Given the description of an element on the screen output the (x, y) to click on. 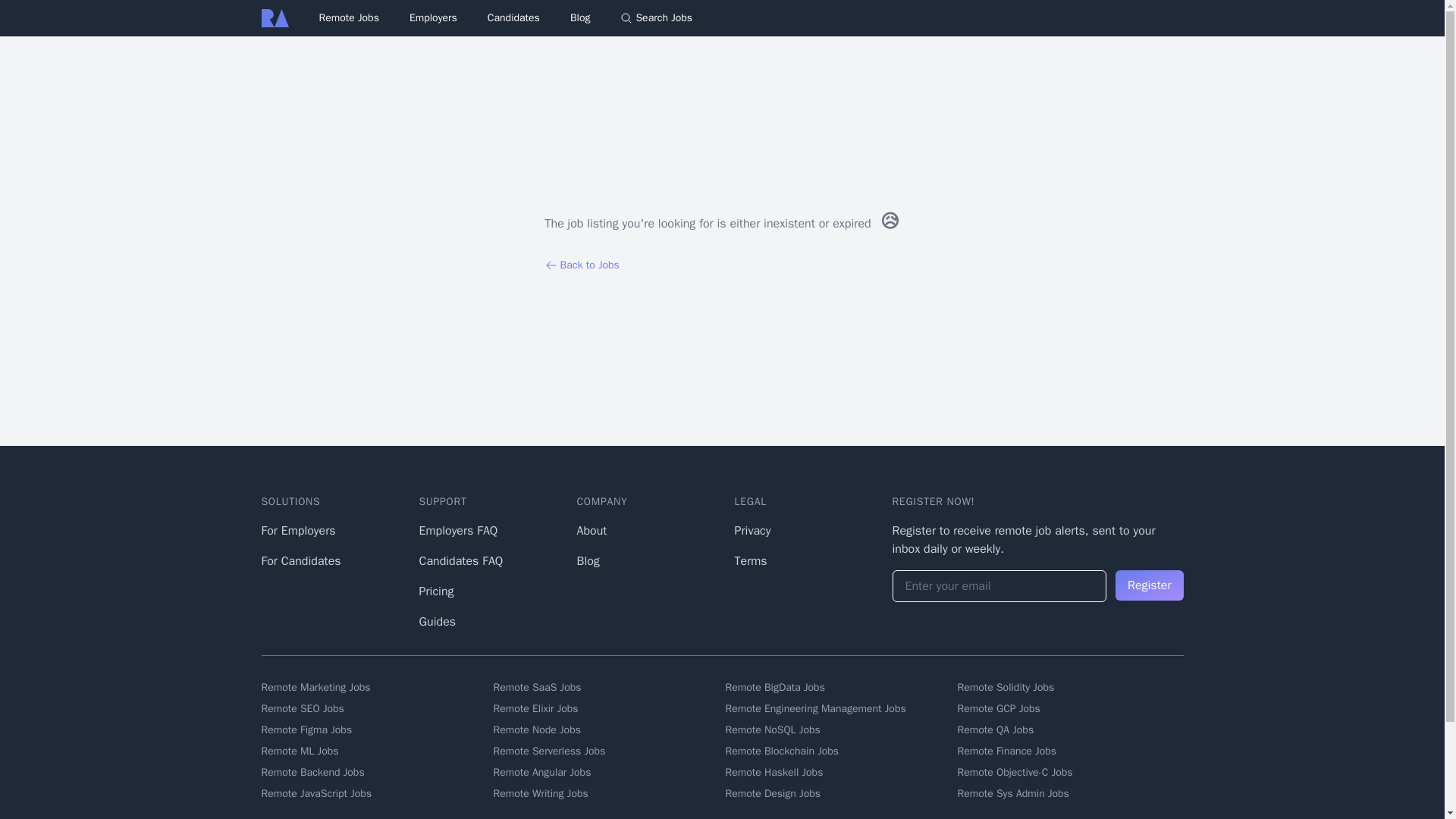
Terms (750, 560)
Register (1149, 585)
Blog (587, 560)
About (591, 530)
For Employers (297, 530)
Back to Jobs (721, 264)
Remote QA Jobs (1069, 729)
Remote Marketing Jobs (373, 687)
Employers (433, 17)
Employers FAQ (458, 530)
